Given the description of an element on the screen output the (x, y) to click on. 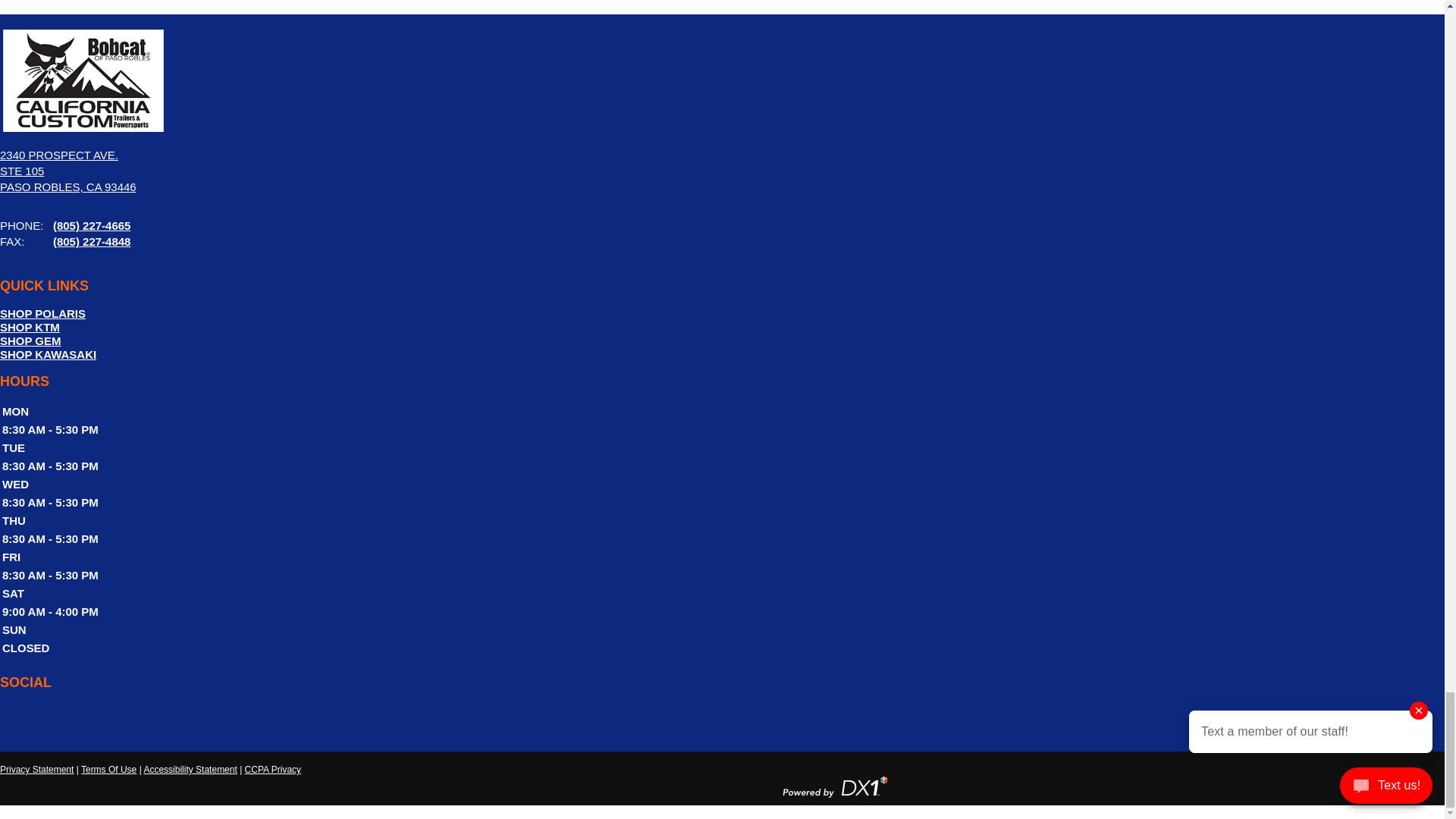
Powered by DX1 (834, 786)
